Given the description of an element on the screen output the (x, y) to click on. 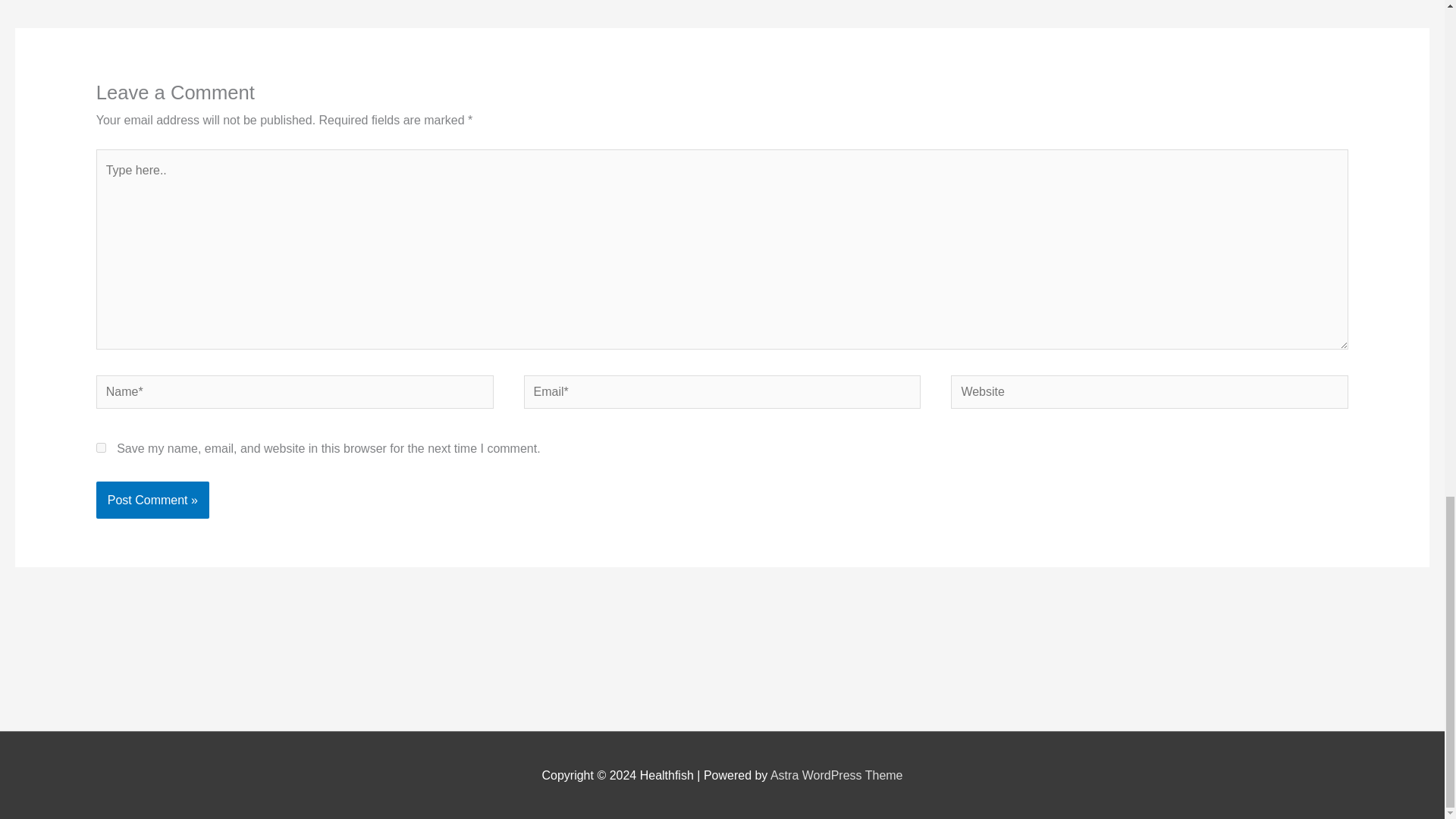
yes (101, 447)
Astra WordPress Theme (836, 775)
An extremely Merry Christmas that have a payday loan (61, 1)
